Given the description of an element on the screen output the (x, y) to click on. 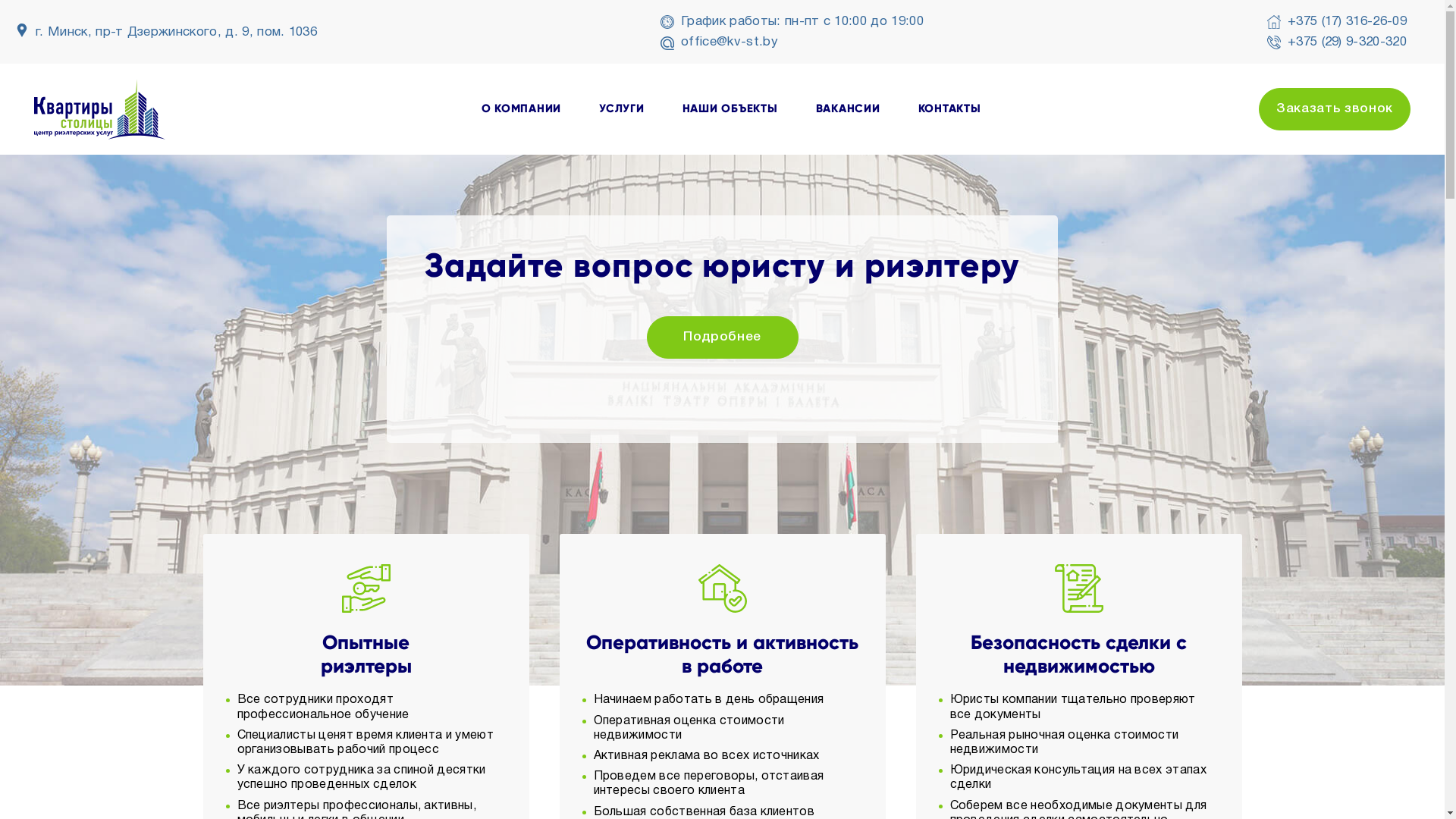
office@kv-st.by Element type: text (719, 41)
+375 (17) 316-26-09 Element type: text (1336, 21)
+375 (29) 9-320-320 Element type: text (1336, 41)
